Given the description of an element on the screen output the (x, y) to click on. 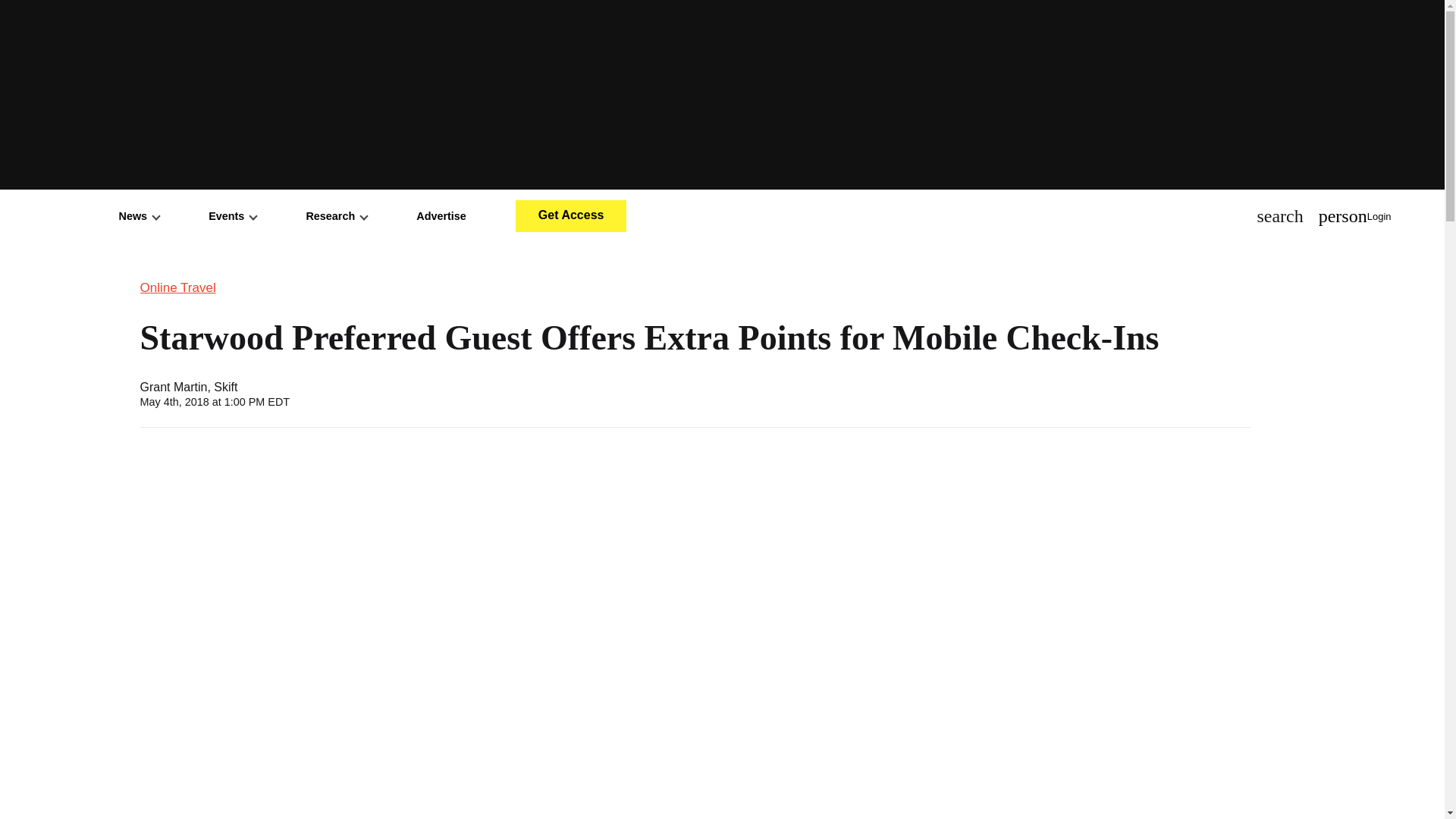
Research (335, 215)
Events (232, 215)
